Given the description of an element on the screen output the (x, y) to click on. 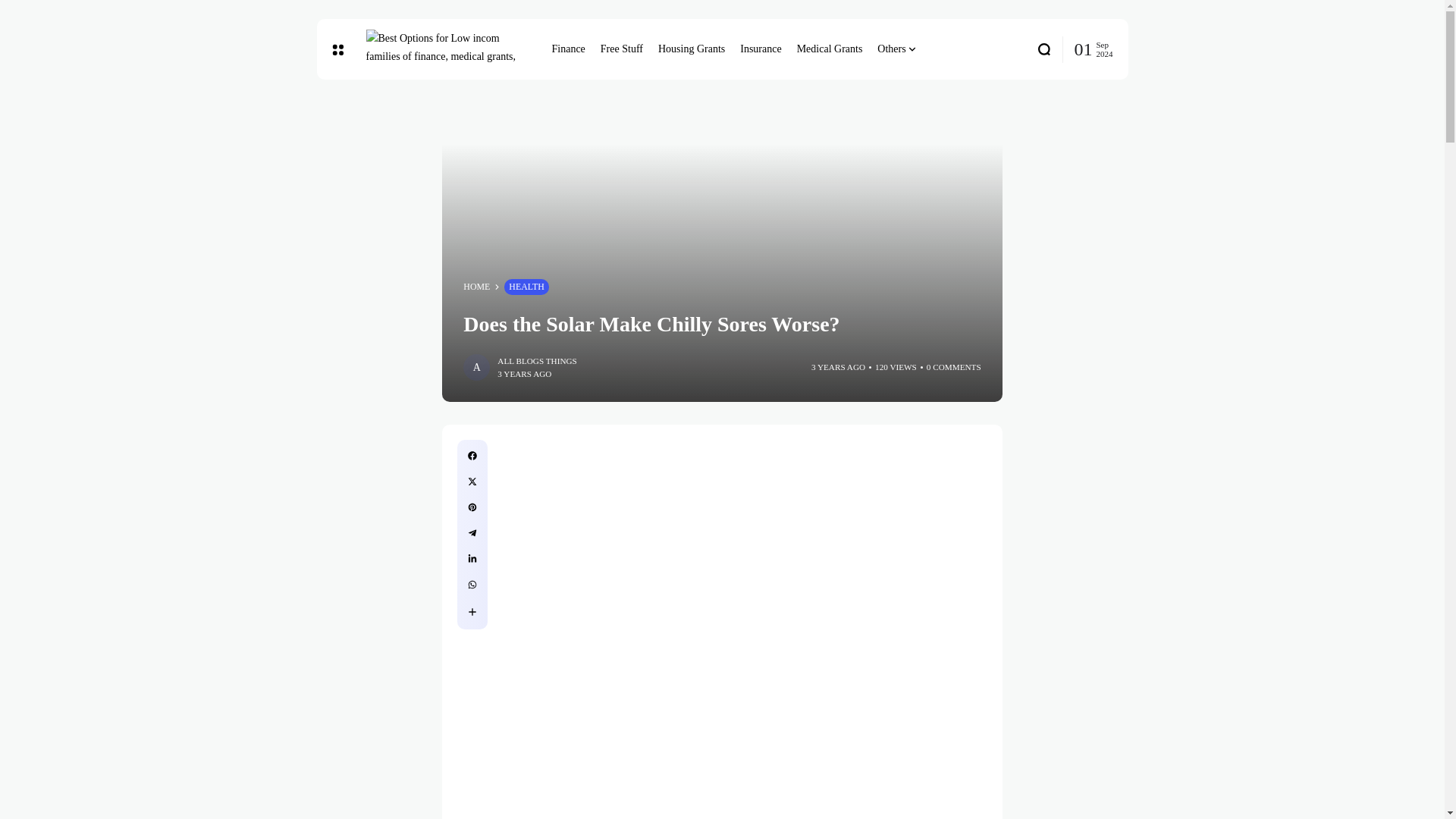
Housing Grants (691, 48)
0 COMMENTS (953, 367)
Posts by All Blogs Things (536, 360)
Medical Grants (829, 48)
HEALTH (525, 287)
120 VIEWS (896, 367)
3 YEARS AGO (837, 367)
HOME (476, 287)
ALL BLOGS THINGS (536, 360)
